Given the description of an element on the screen output the (x, y) to click on. 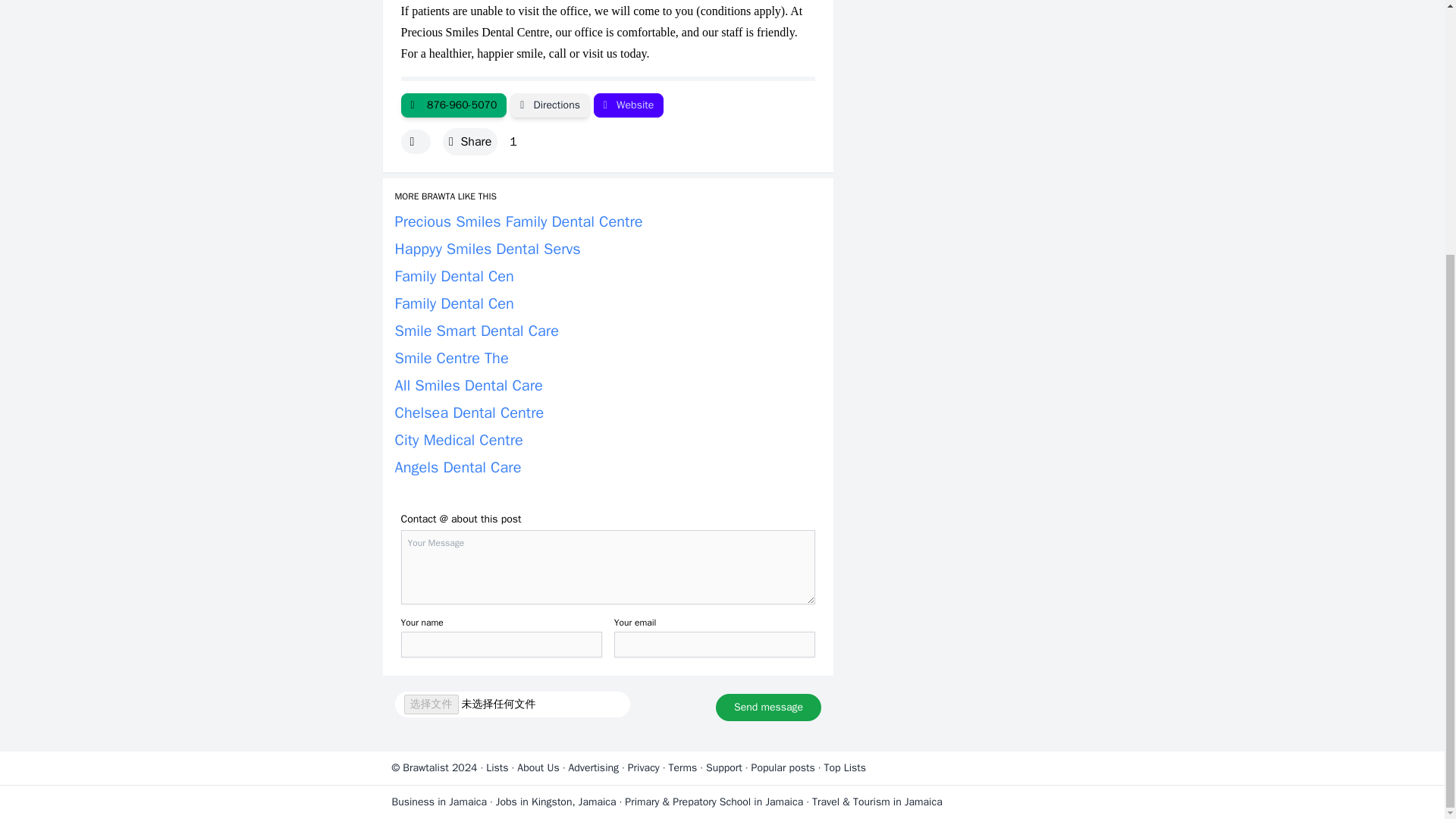
Angels Dental Care (457, 466)
 Share (469, 141)
Smile Smart Dental Care (475, 330)
Precious Smiles Family Dental Centre (518, 221)
Share (469, 141)
  876-960-5070 (453, 105)
Privacy (643, 767)
Business in Jamaica (438, 801)
Family Dental Cen (453, 303)
Family Dental Cen (453, 275)
Send message (768, 707)
Happyy Smiles Dental Servs (486, 248)
Click to Call (453, 105)
Chelsea Dental Centre (468, 412)
All Smiles Dental Care (467, 384)
